Given the description of an element on the screen output the (x, y) to click on. 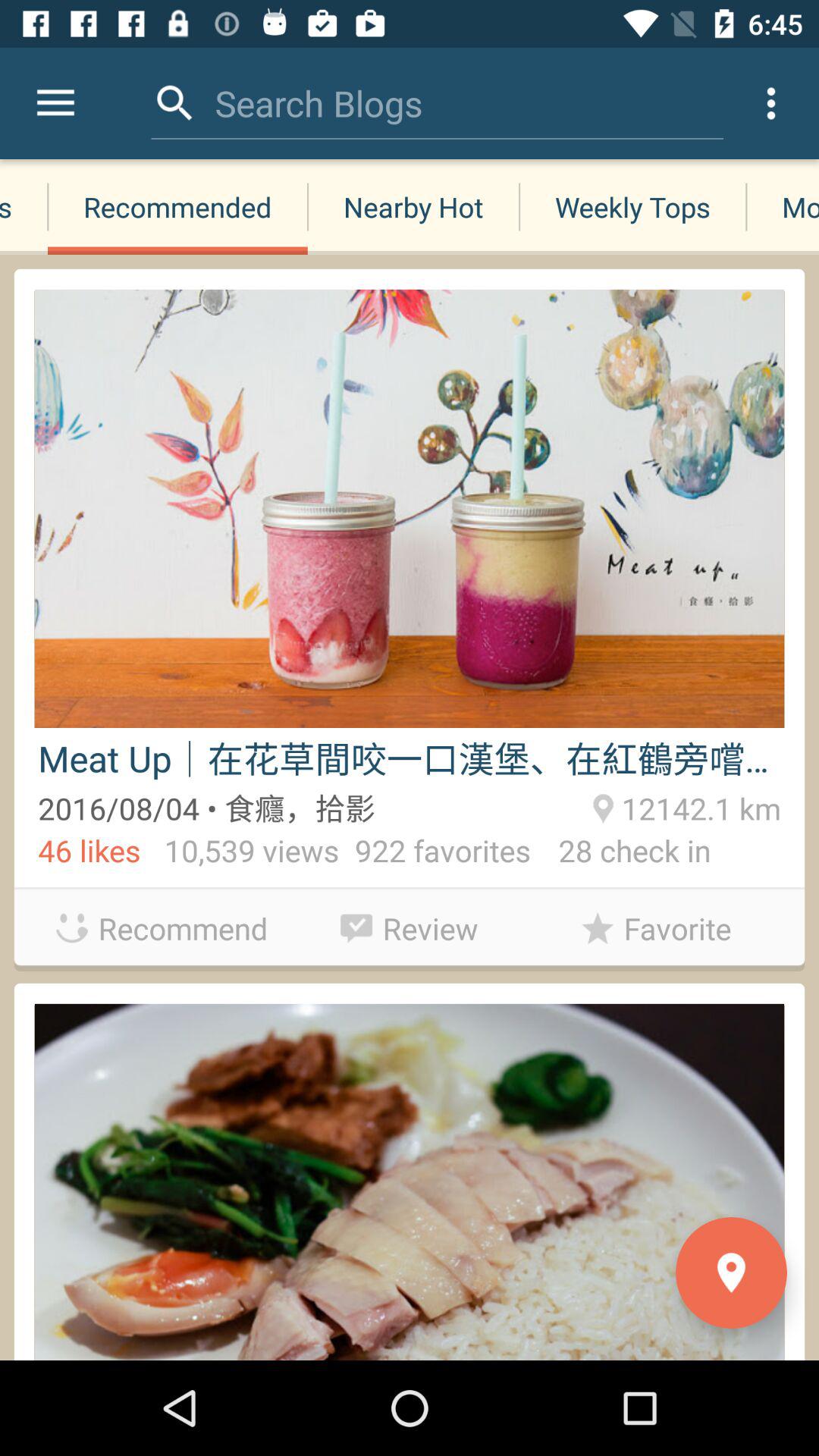
select the recommend (161, 928)
